Given the description of an element on the screen output the (x, y) to click on. 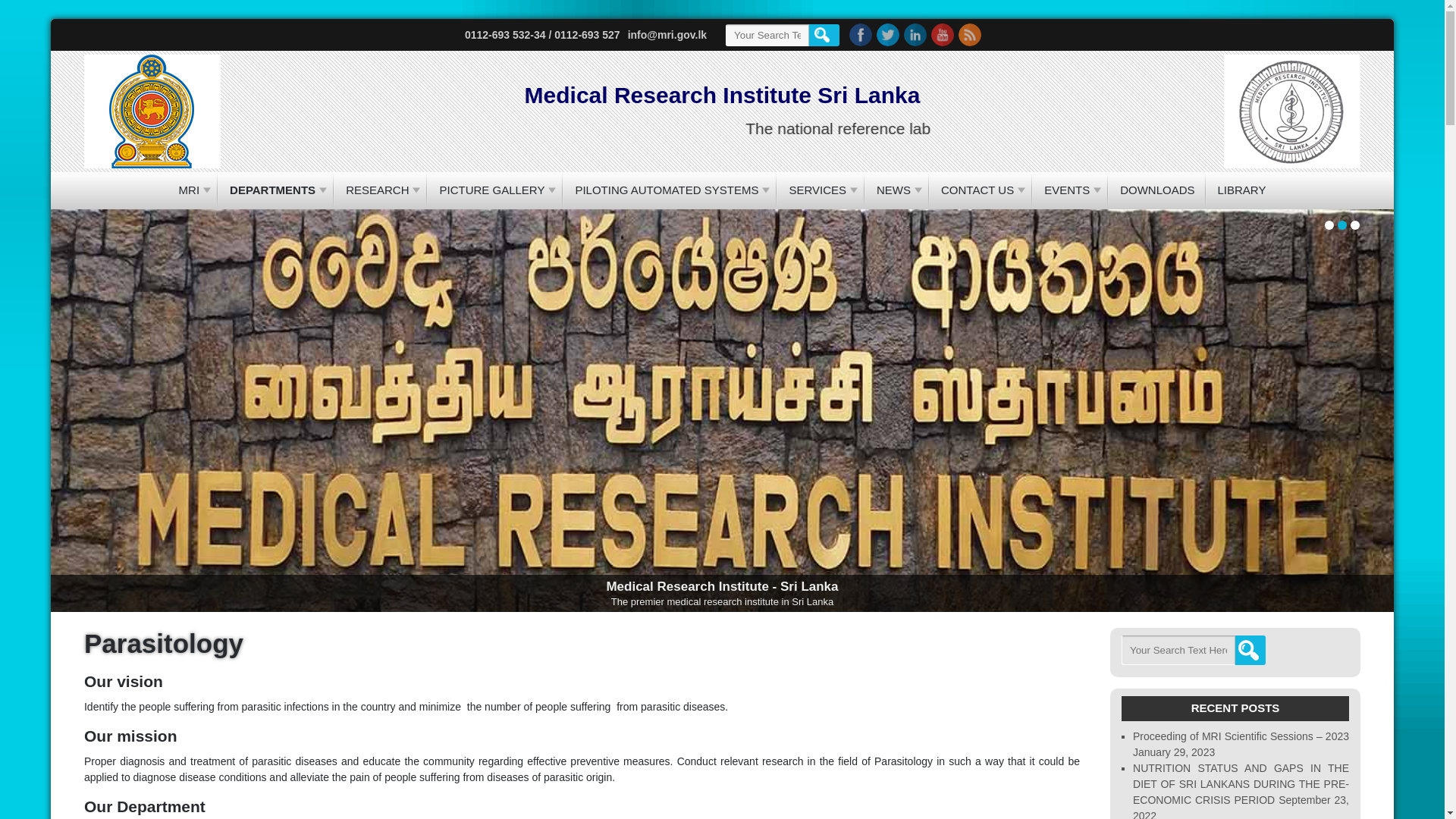
Search (822, 34)
MRI (193, 190)
Search (822, 34)
DEPARTMENTS (276, 190)
Search (1248, 650)
Medical Research Institute Sri Lanka (722, 95)
